Given the description of an element on the screen output the (x, y) to click on. 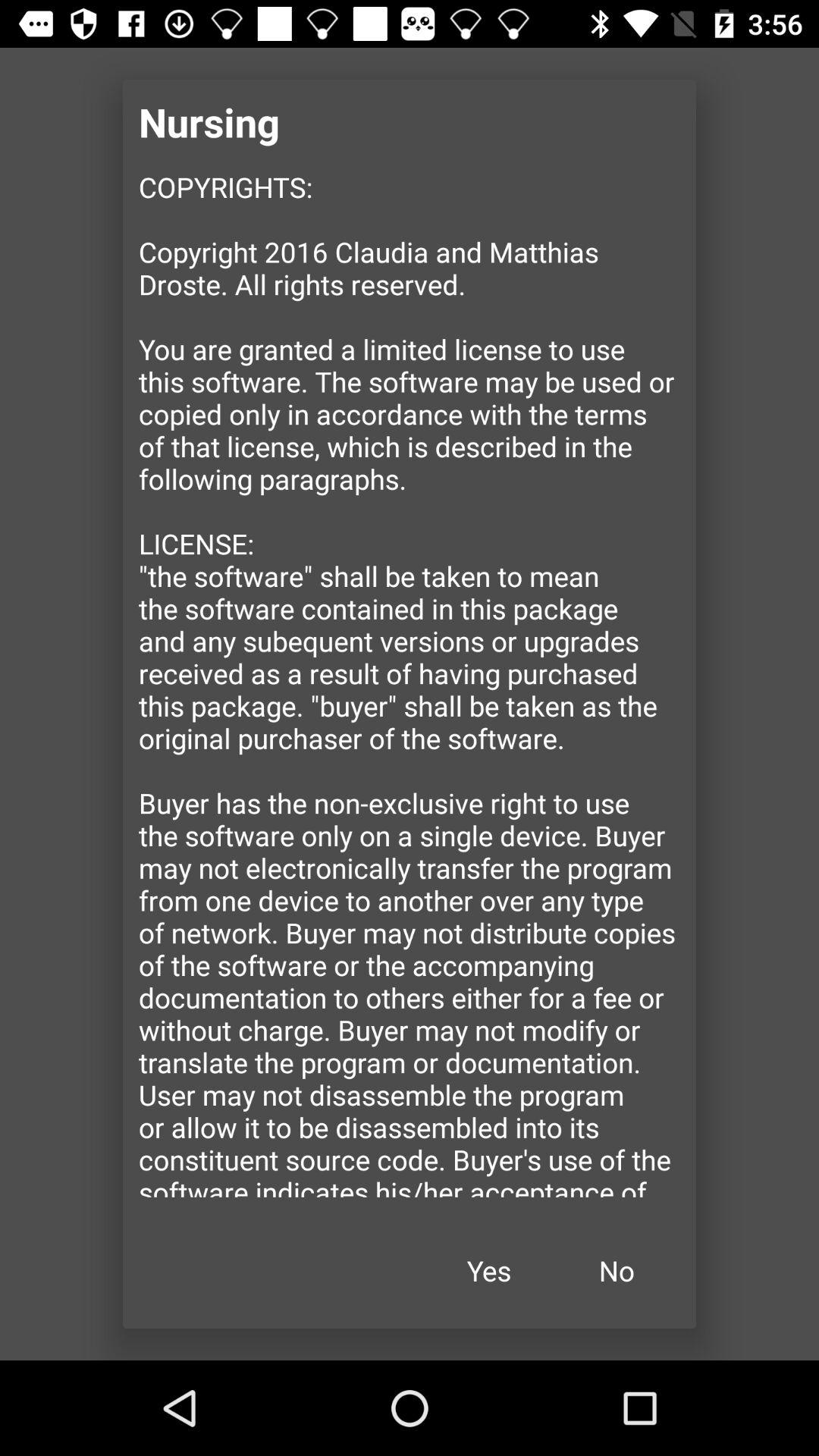
choose icon to the left of no icon (488, 1270)
